Given the description of an element on the screen output the (x, y) to click on. 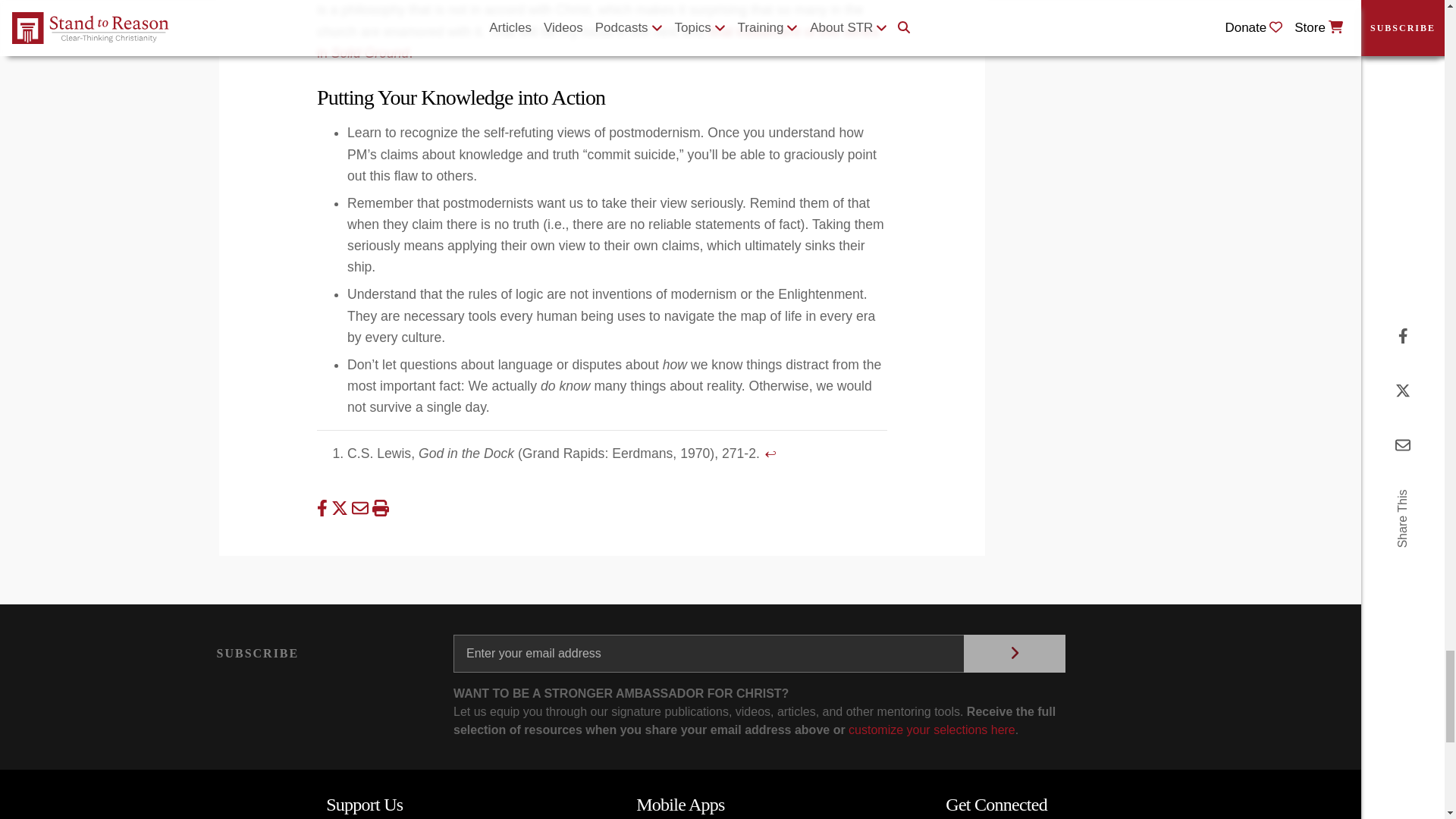
Share on Twitter (341, 507)
Printer Friendly and PDF (379, 507)
Email (362, 507)
Share on Facebook (324, 507)
